Given the description of an element on the screen output the (x, y) to click on. 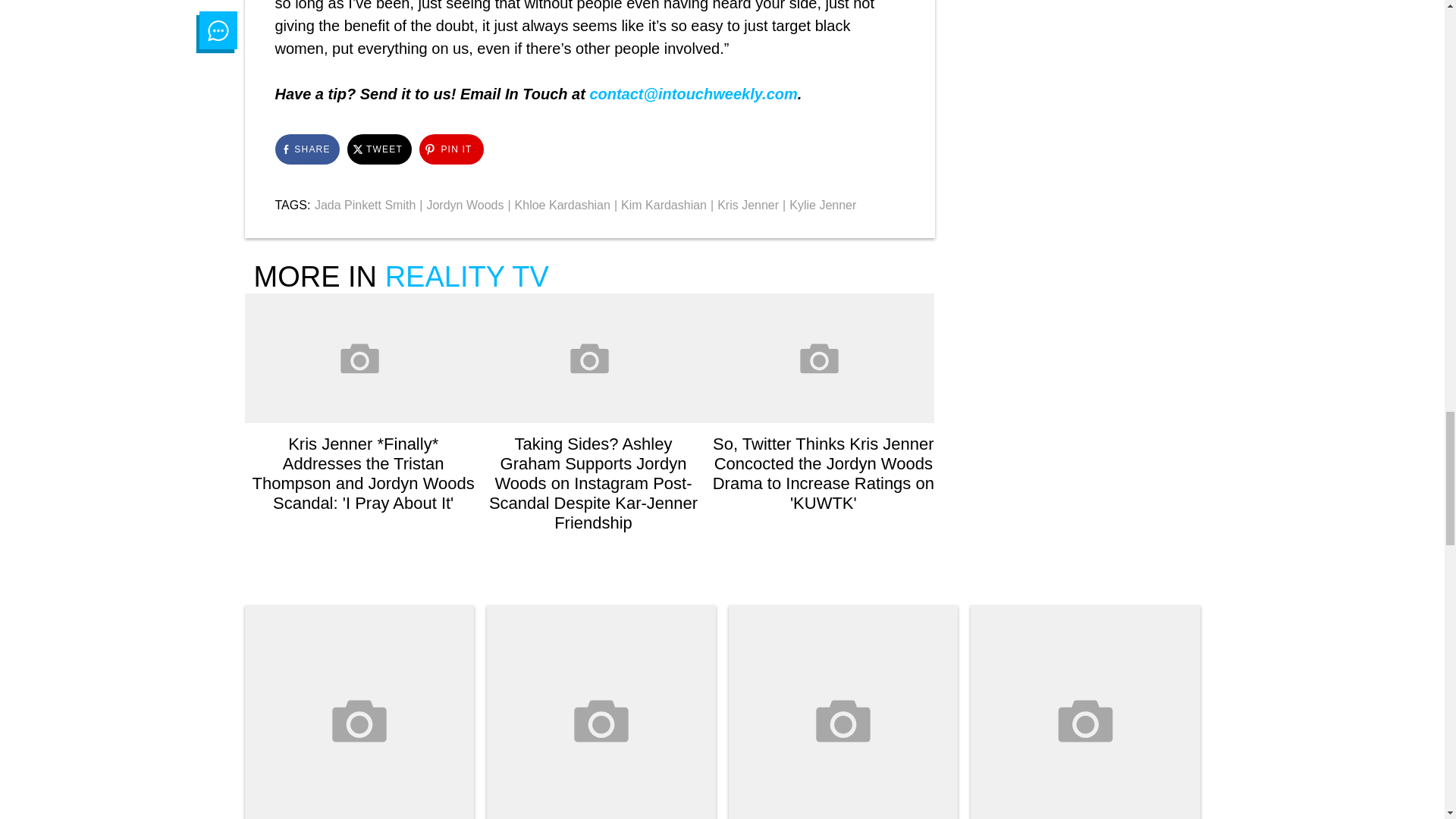
Click to share on Twitter (379, 149)
Click to share on Pinterest (451, 149)
Click to share on Facebook (307, 149)
